Given the description of an element on the screen output the (x, y) to click on. 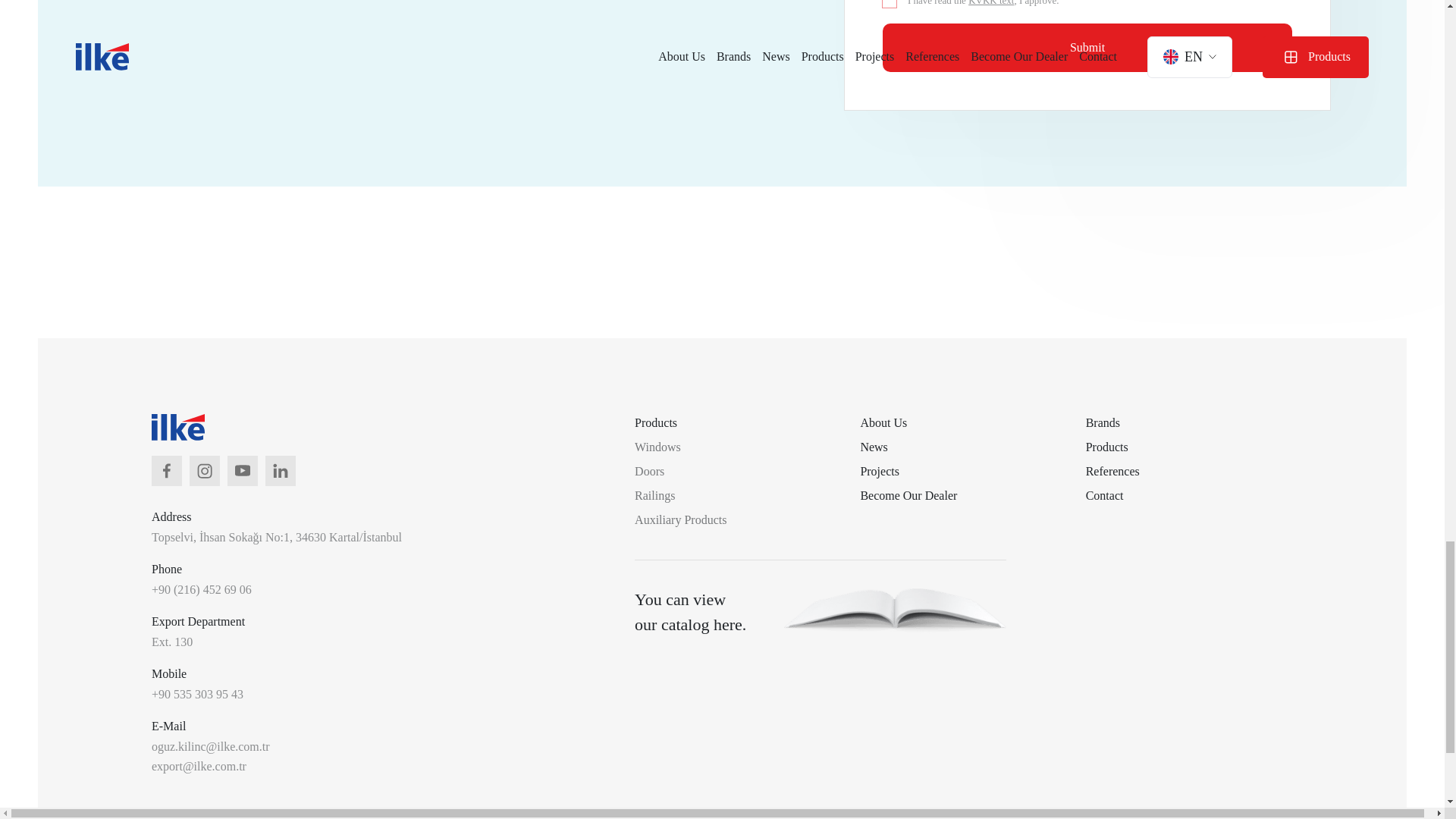
Evet (889, 3)
